Given the description of an element on the screen output the (x, y) to click on. 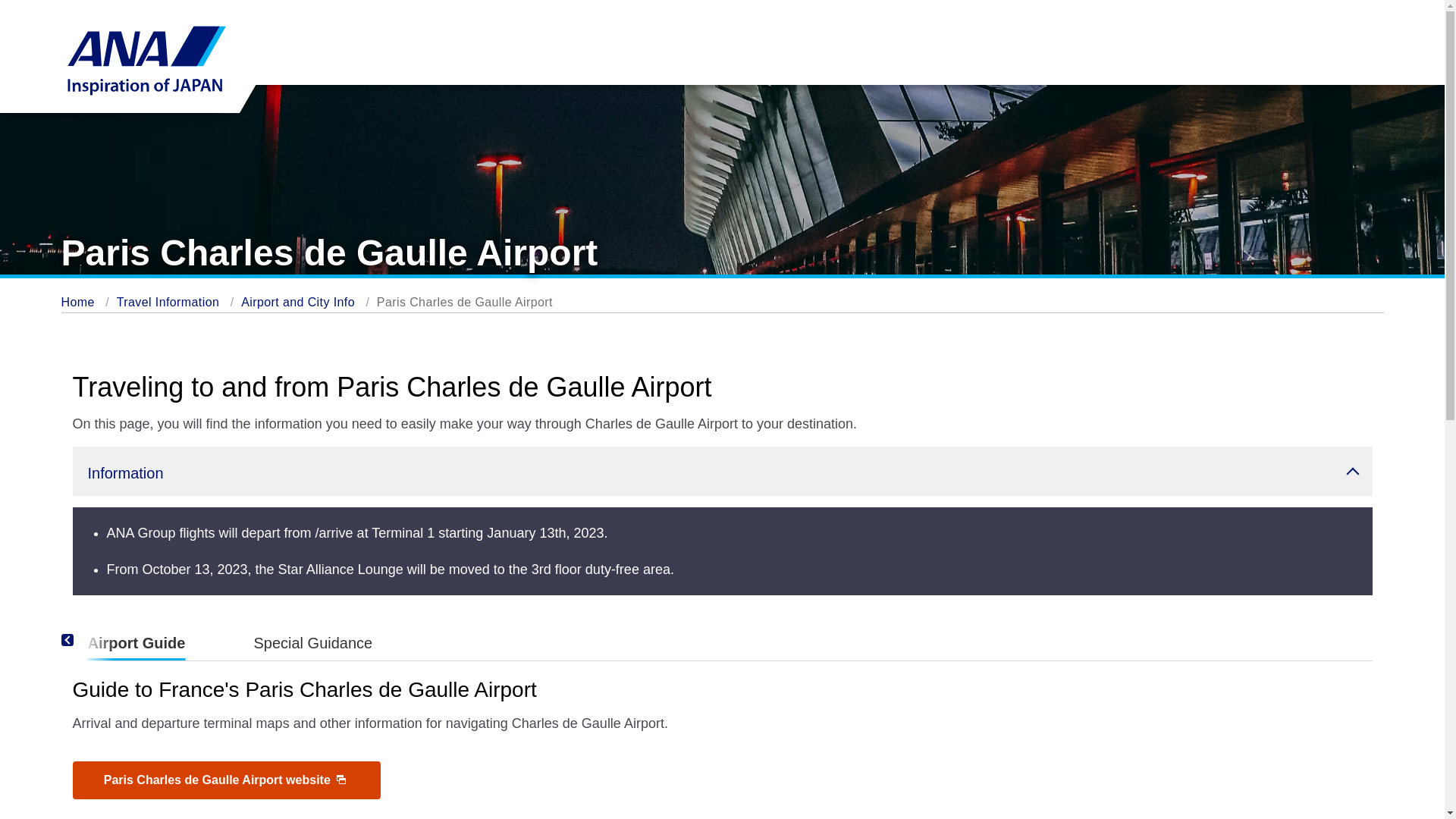
Special Guidance (312, 643)
Paris Charles de Gaulle Airport website (226, 780)
Home (77, 301)
Airport Guide (136, 643)
Paris Charles de Gaulle Airport (465, 301)
Travel Information (722, 639)
Airport and City Info (167, 301)
